Given the description of an element on the screen output the (x, y) to click on. 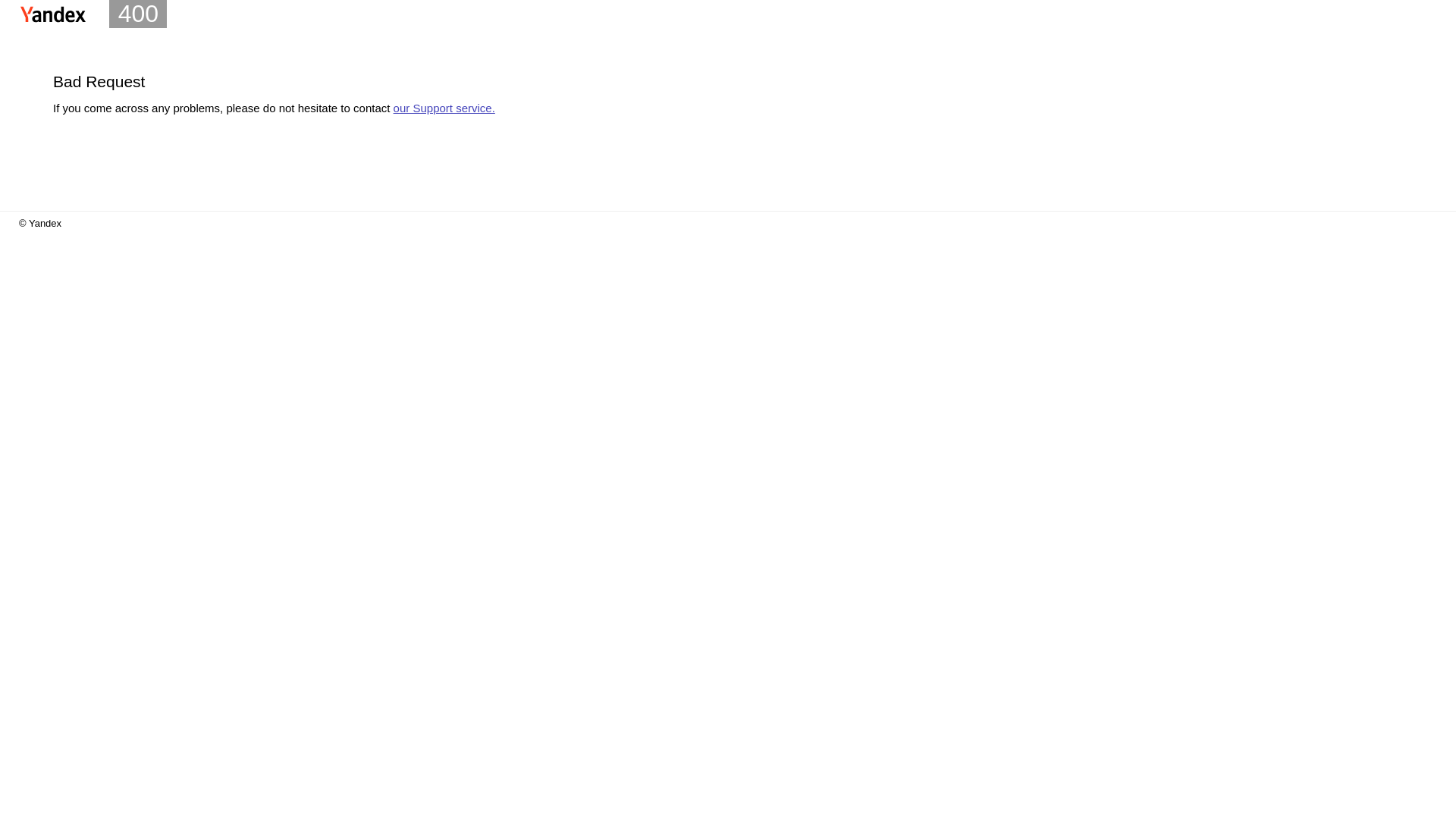
our Support service. Element type: text (444, 107)
Yandex Element type: text (52, 14)
